Given the description of an element on the screen output the (x, y) to click on. 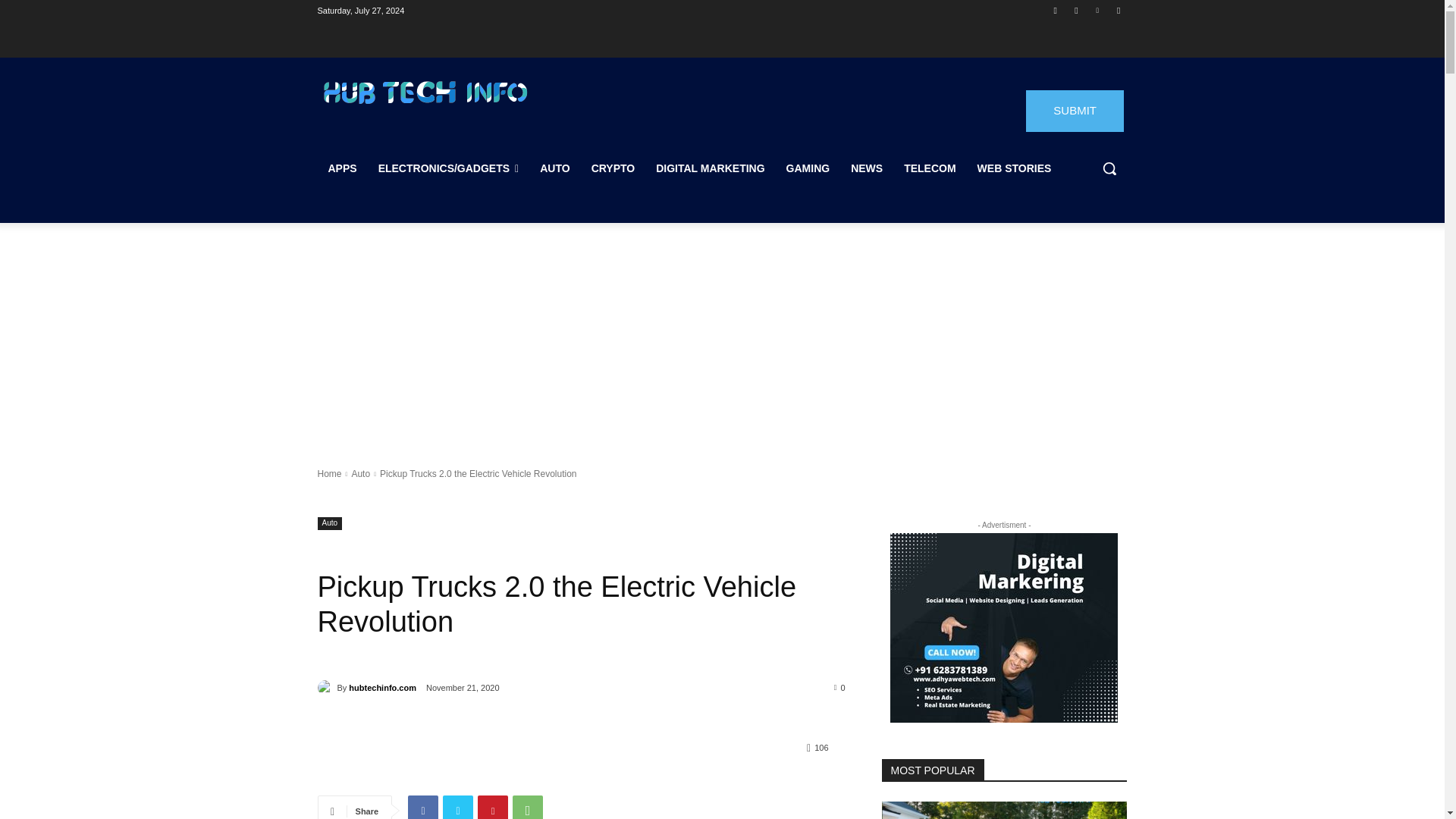
APPS (341, 167)
GAMING (808, 167)
DIGITAL MARKETING (709, 167)
NEWS (866, 167)
WEB STORIES (1014, 167)
SUBMIT (1075, 110)
Facebook (1055, 9)
Pinterest (1097, 9)
Twitter (1117, 9)
TELECOM (929, 167)
SUBMIT   (1075, 110)
CRYPTO (613, 167)
AUTO (554, 167)
Instagram (1075, 9)
